Given the description of an element on the screen output the (x, y) to click on. 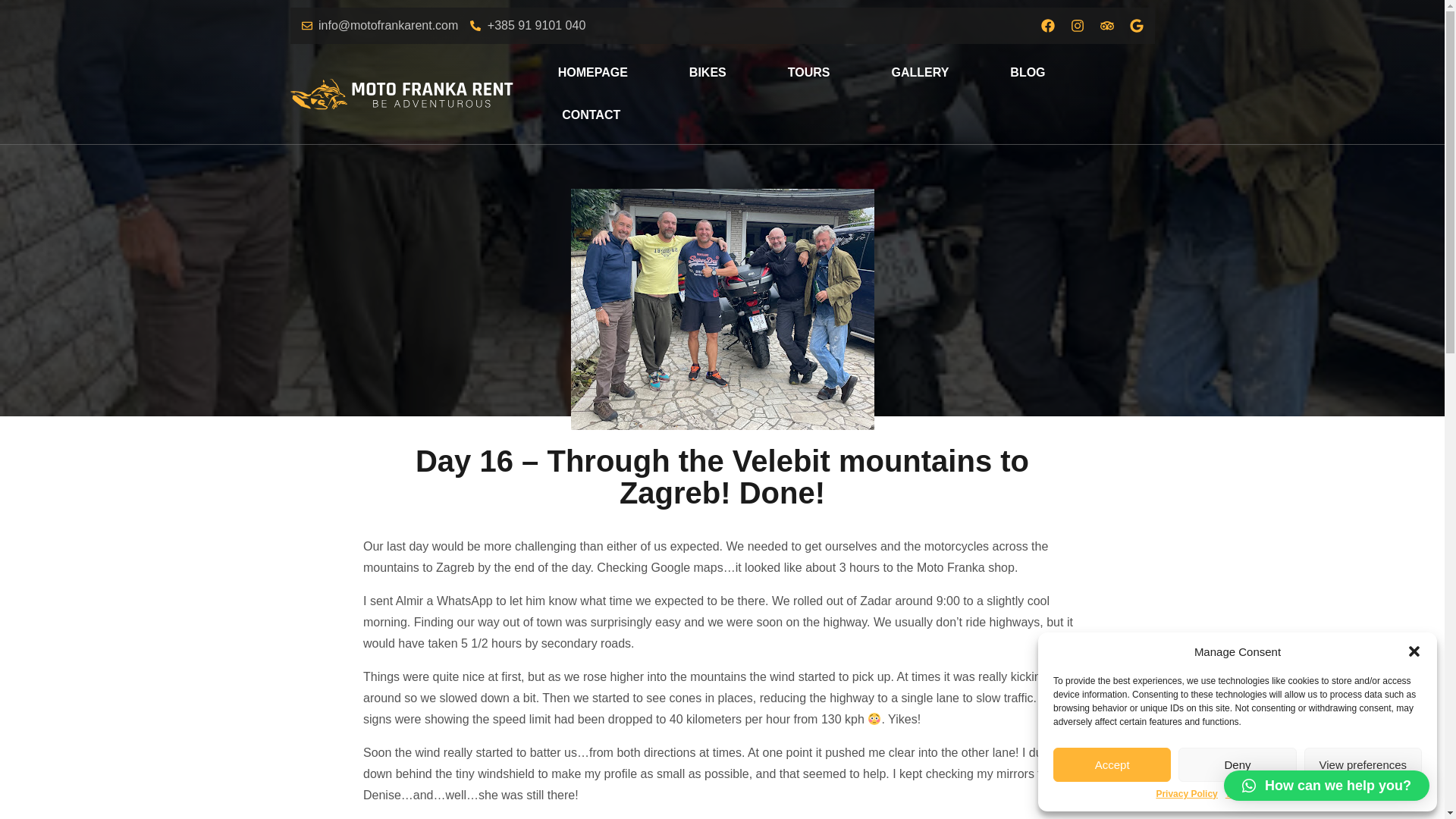
HOMEPAGE (592, 72)
TOURS (809, 72)
BLOG (1027, 72)
BIKES (707, 72)
Deny (1236, 764)
GALLERY (919, 72)
CONTACT (590, 115)
Terms and conditions (1272, 794)
Accept (1111, 764)
View preferences (1363, 764)
